Given the description of an element on the screen output the (x, y) to click on. 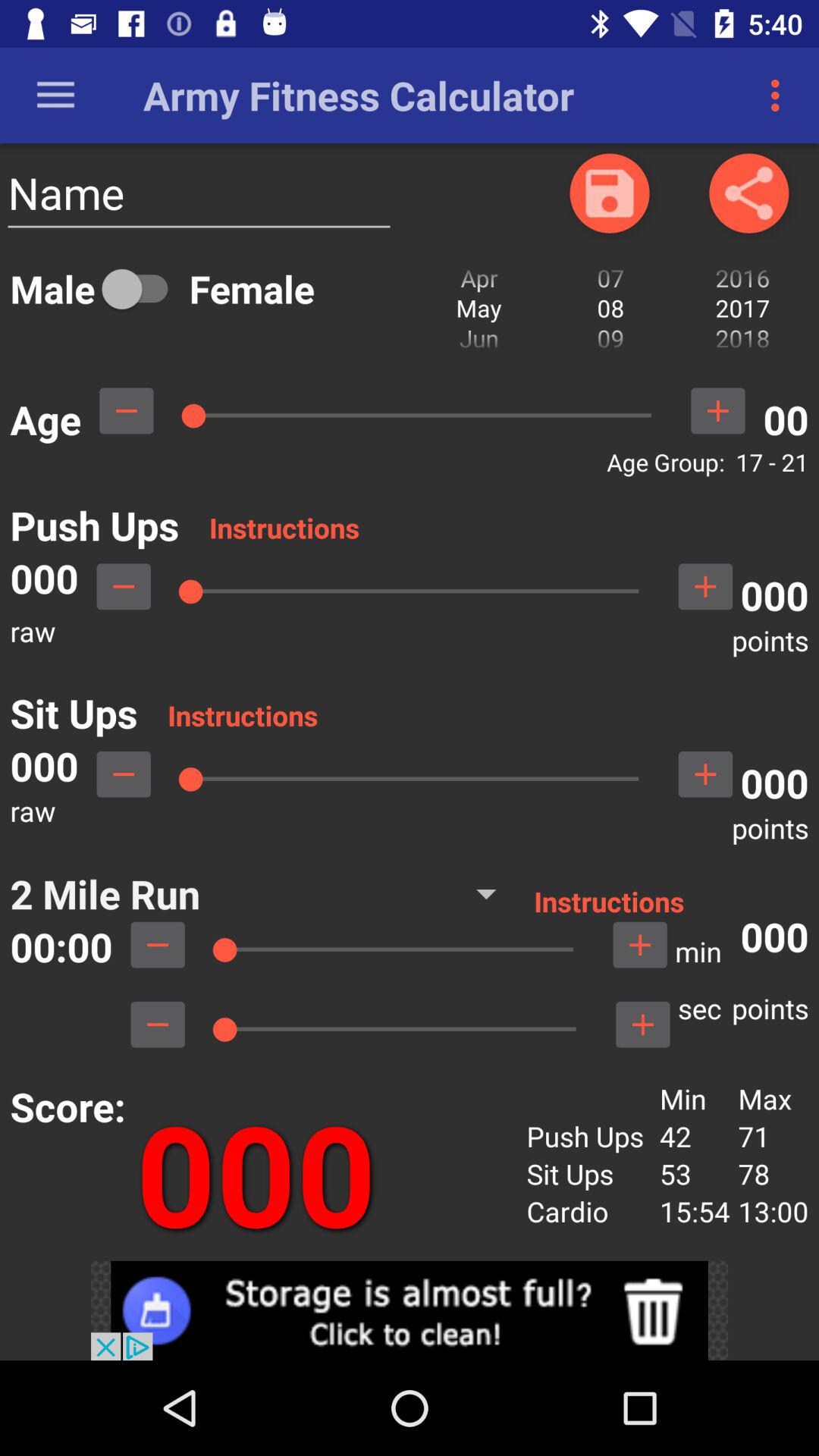
increase minutes (640, 944)
